Given the description of an element on the screen output the (x, y) to click on. 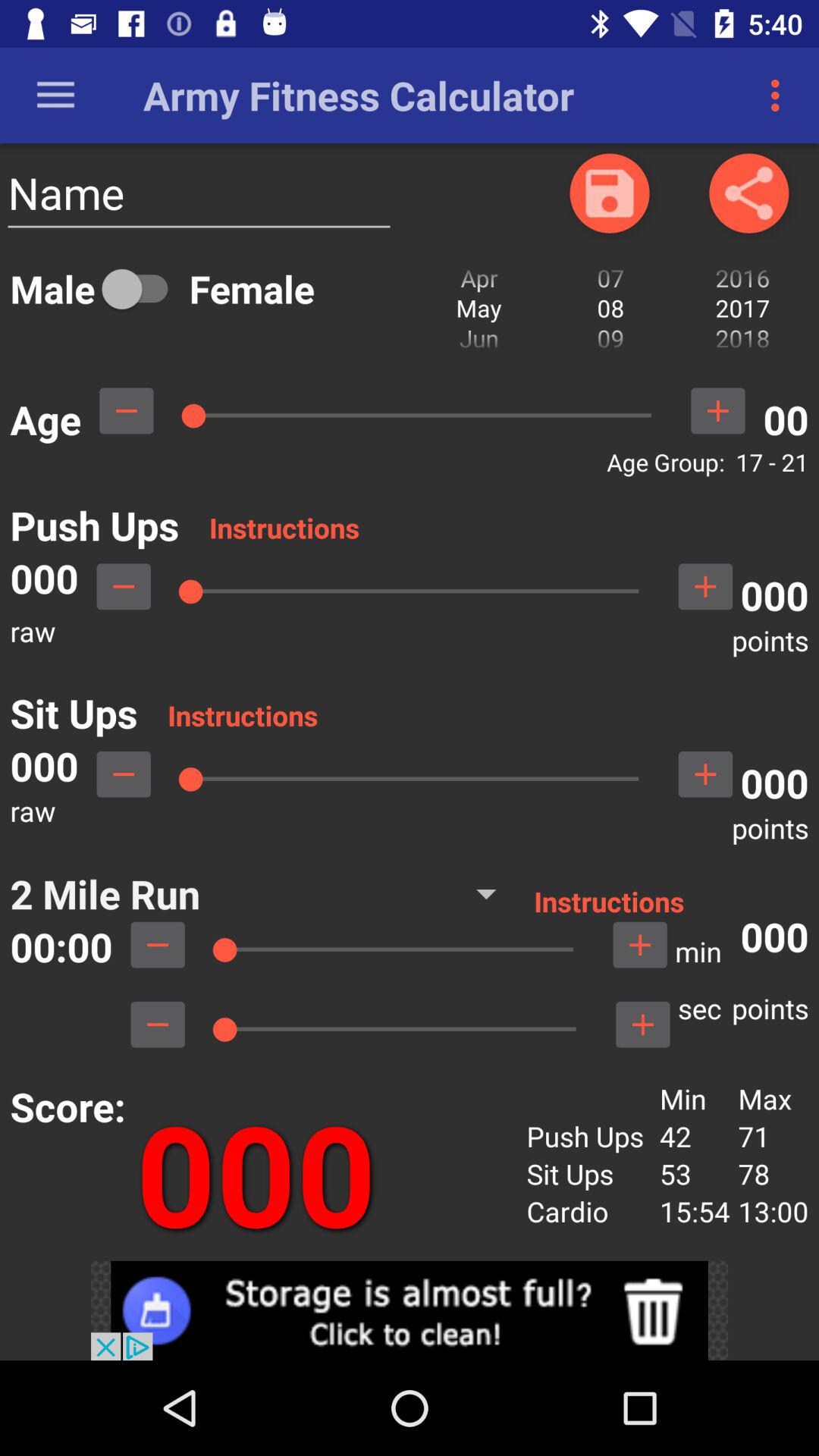
increase minutes (640, 944)
